Given the description of an element on the screen output the (x, y) to click on. 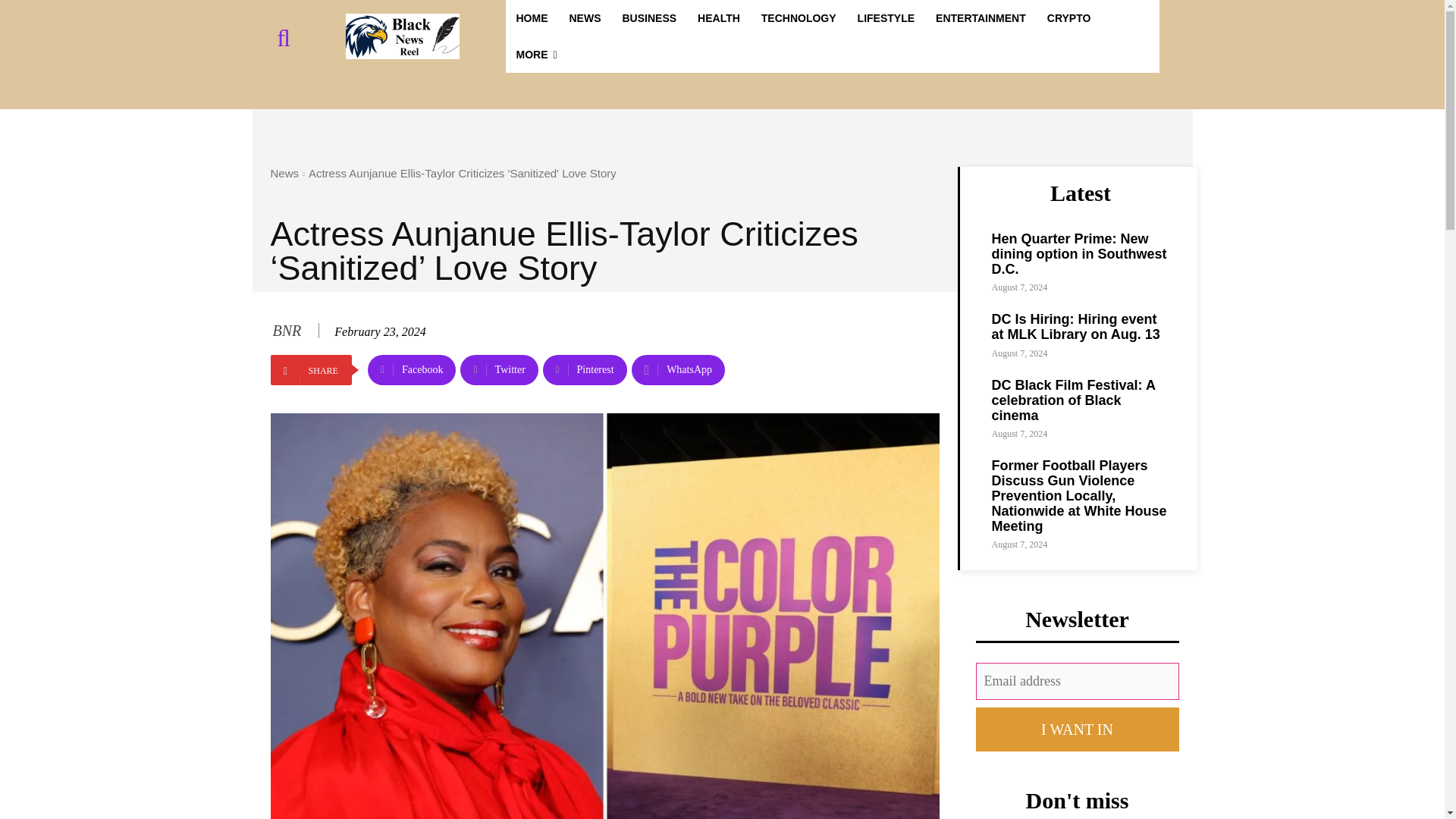
TECHNOLOGY (799, 18)
NEWS (584, 18)
CRYPTO (1069, 18)
BUSINESS (649, 18)
Facebook (412, 369)
WhatsApp (678, 369)
HEALTH (719, 18)
LIFESTYLE (885, 18)
HOME (531, 18)
View all posts in News (283, 173)
